Given the description of an element on the screen output the (x, y) to click on. 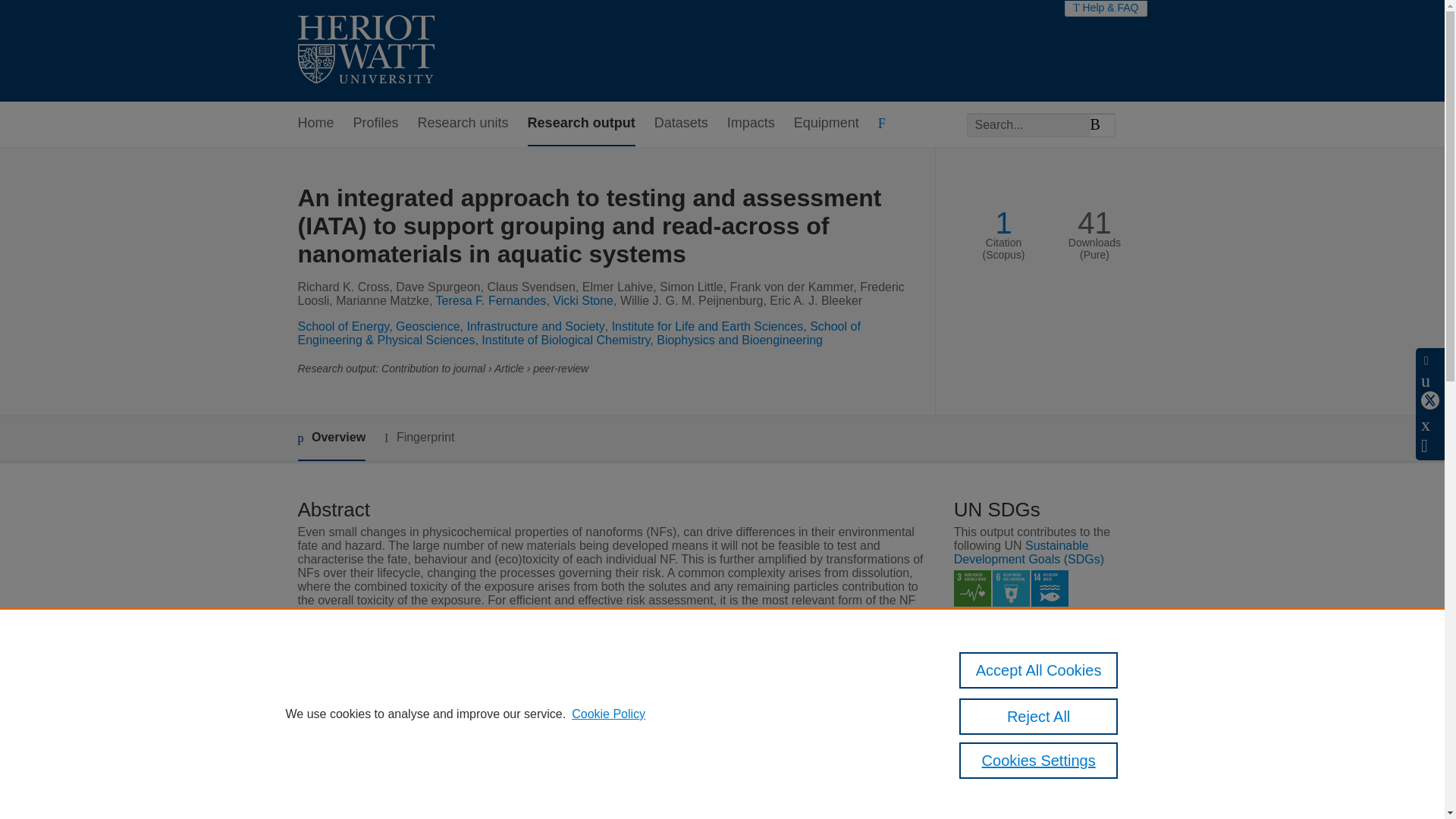
Link to publication in Scopus (1045, 799)
Vicki Stone (582, 300)
SDG 3 - Good Health and Well-being (972, 588)
Heriot-Watt Research Portal Home (365, 50)
SDG 14 - Life Below Water (1049, 588)
Datasets (680, 123)
Research output (580, 123)
Fingerprint (419, 437)
Download pdf (1003, 698)
